Given the description of an element on the screen output the (x, y) to click on. 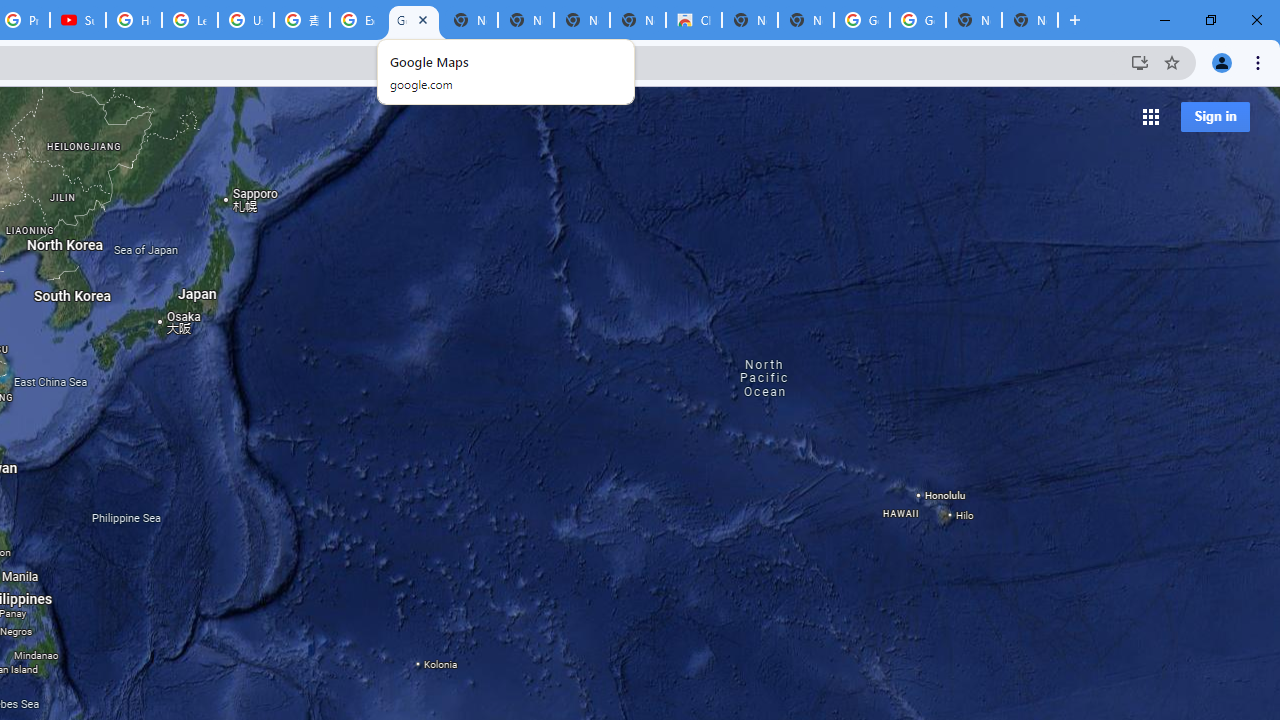
Subscriptions - YouTube (77, 20)
Chrome Web Store (693, 20)
Install Google Maps (1139, 62)
Google Images (917, 20)
Explore new street-level details - Google Maps Help (358, 20)
Google Images (861, 20)
